Given the description of an element on the screen output the (x, y) to click on. 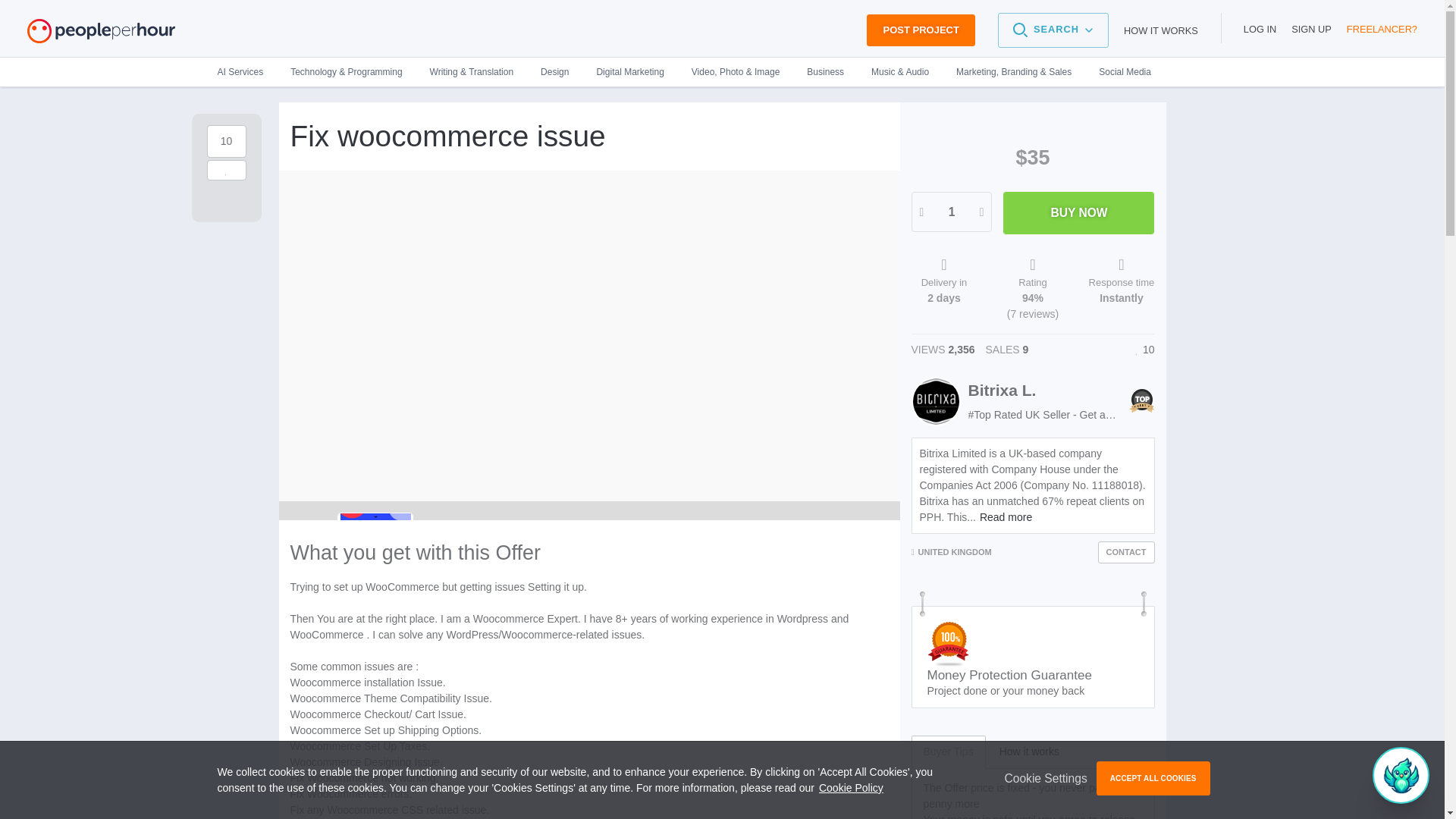
Log in (1259, 28)
Design (554, 71)
Digital Marketing (629, 71)
Social Media (1117, 71)
FREELANCER? (1381, 28)
Become a freelancer (1381, 28)
SIGN UP (1311, 28)
POST PROJECT (920, 29)
LOG IN (1259, 28)
Business (825, 71)
AI Services (246, 71)
HOW IT WORKS (1161, 30)
Buy Now (1078, 212)
Bitrixa L. (1001, 389)
